Given the description of an element on the screen output the (x, y) to click on. 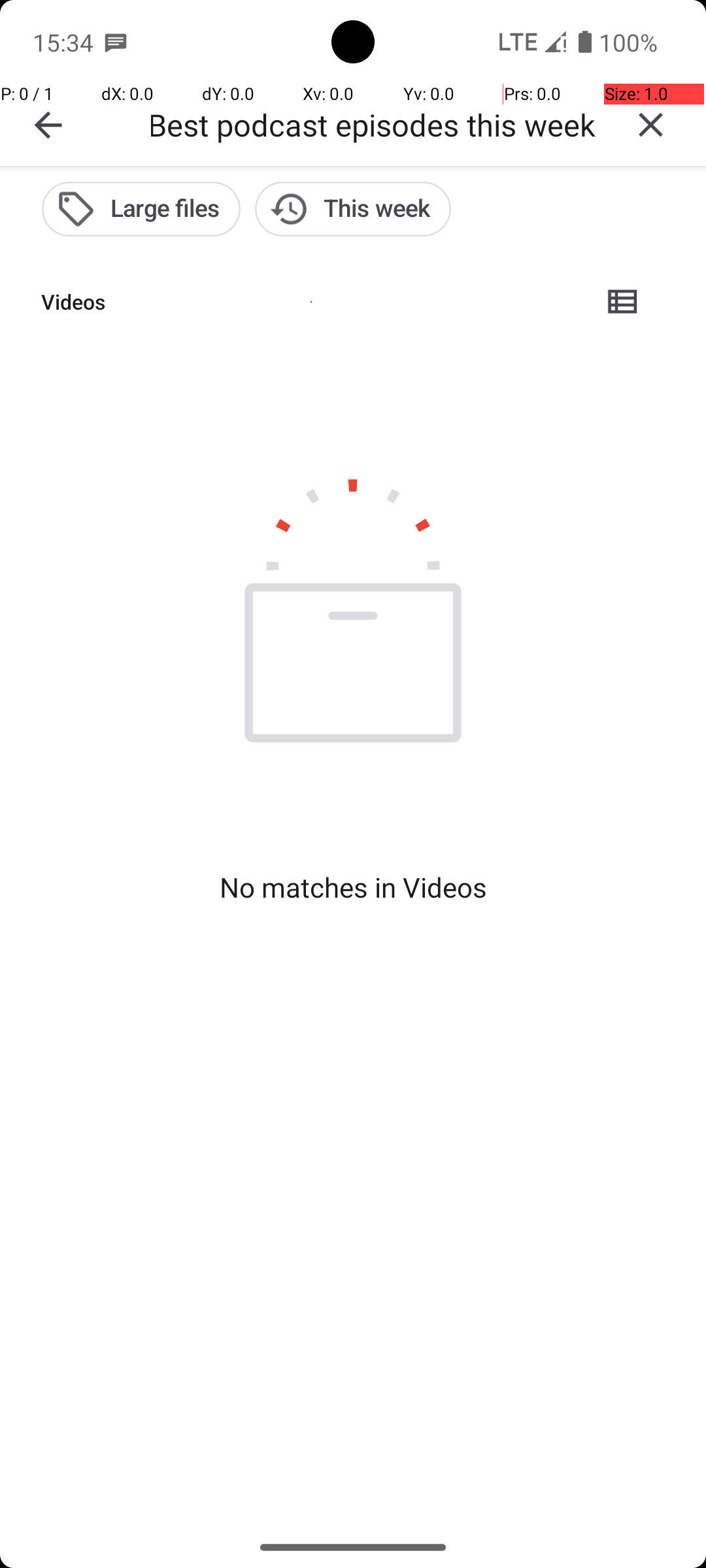
Best podcast episodes this week Element type: android.widget.AutoCompleteTextView (373, 124)
No matches in Videos Element type: android.widget.TextView (352, 886)
